Given the description of an element on the screen output the (x, y) to click on. 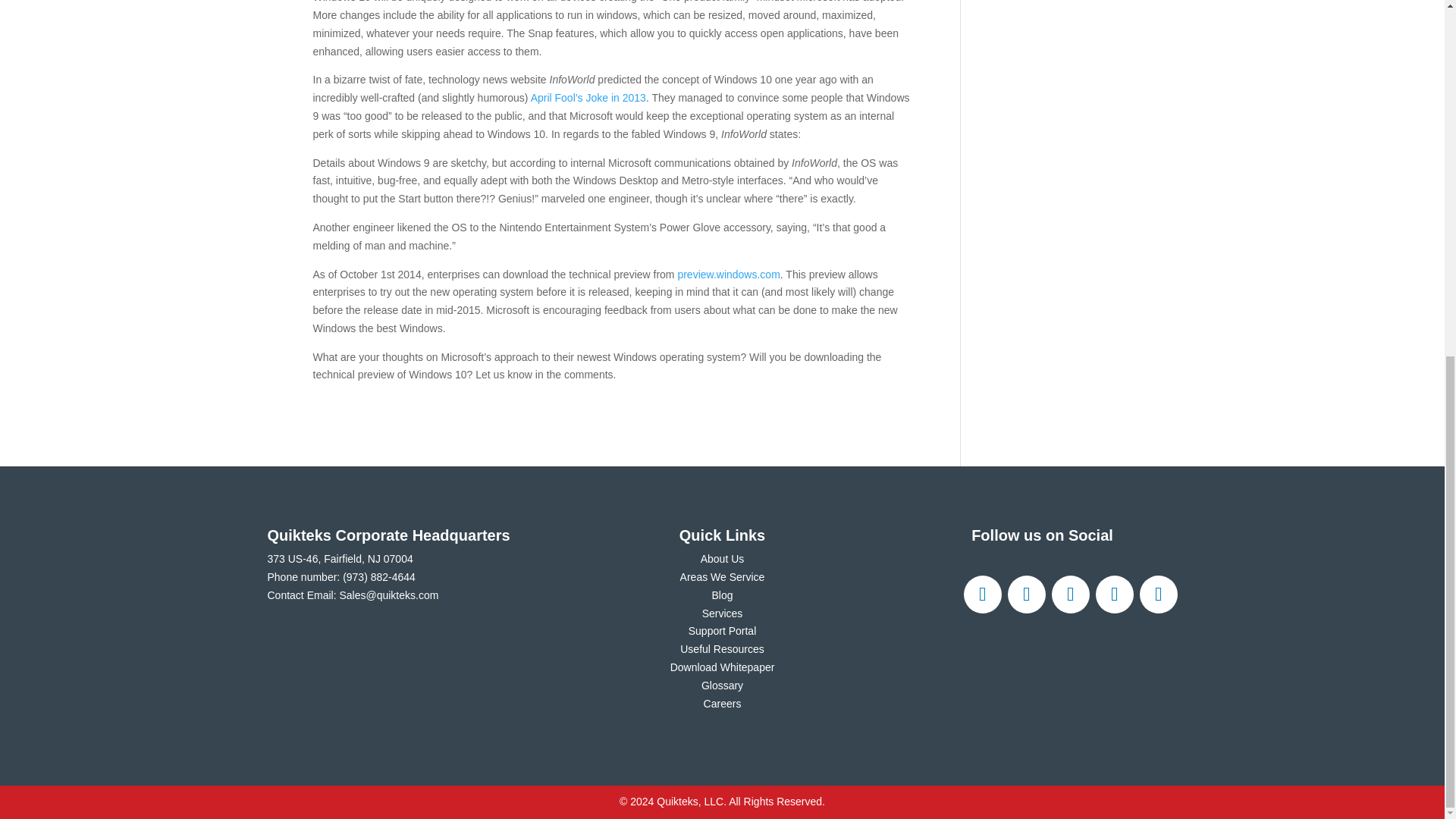
Follow on Youtube (1157, 594)
Follow on X (1026, 594)
About Us (722, 558)
Follow on Instagram (1070, 594)
Blog (721, 594)
Services (721, 613)
Follow on Facebook (981, 594)
Follow on LinkedIn (1113, 594)
Support Portal (722, 630)
Areas We Service (722, 576)
preview.windows.com (727, 273)
373 US-46, Fairfield, NJ 07004 (339, 558)
